Given the description of an element on the screen output the (x, y) to click on. 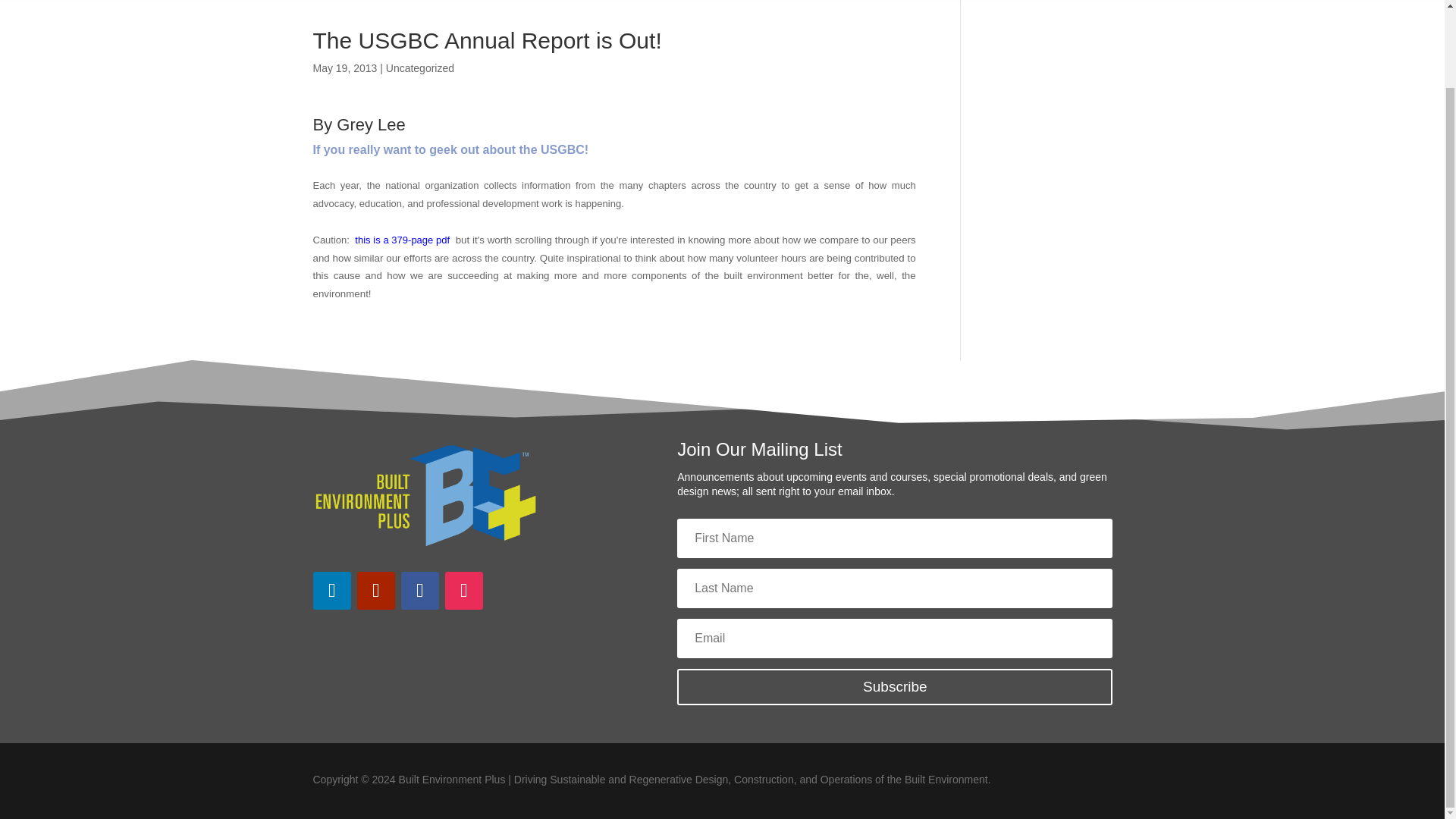
Follow on LinkedIn (331, 590)
Follow on Facebook (419, 590)
Follow on Youtube (375, 590)
Follow on Instagram (462, 590)
